Given the description of an element on the screen output the (x, y) to click on. 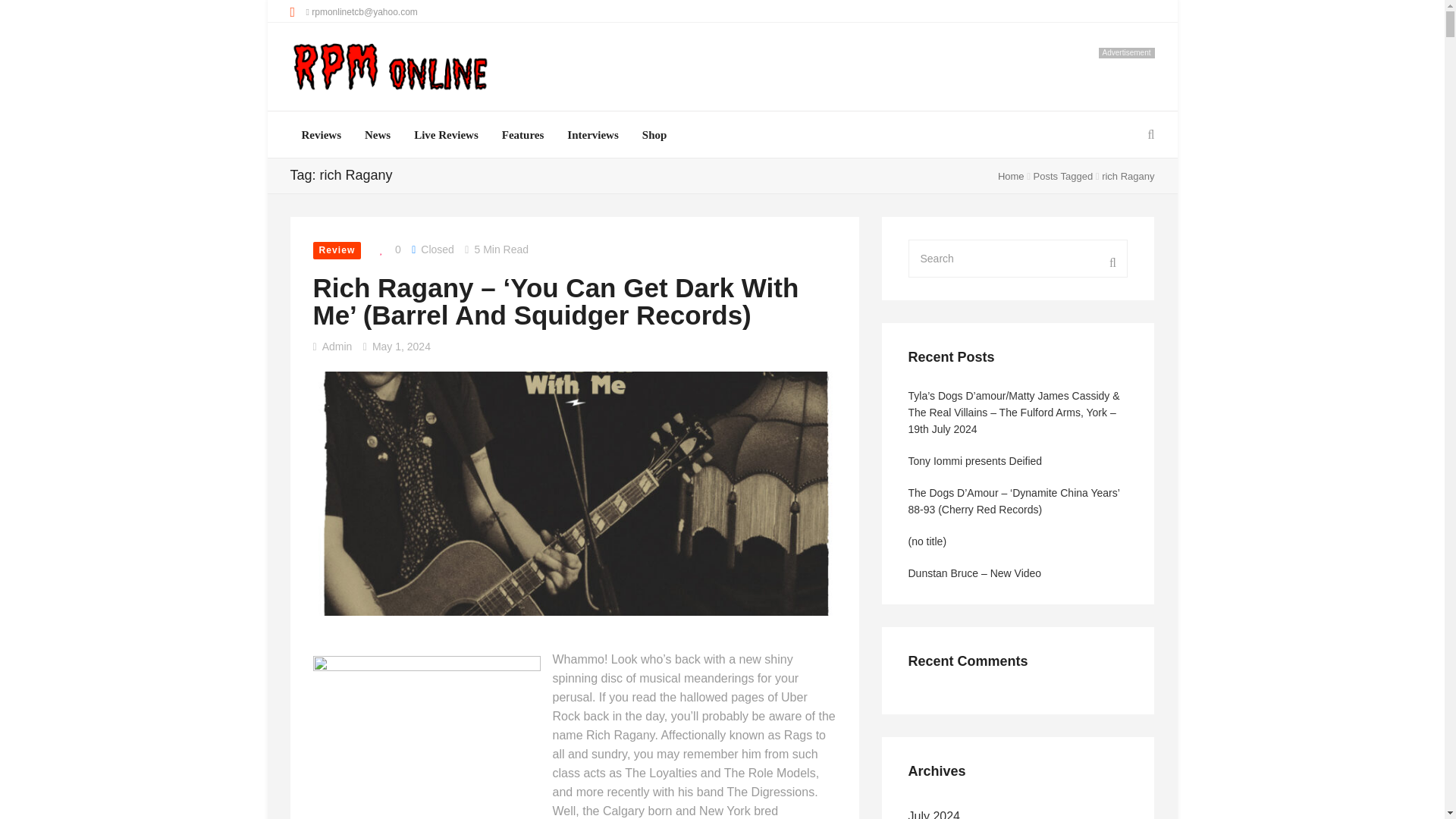
Live Reviews (446, 135)
Like this (386, 249)
Interviews (592, 135)
Features (523, 135)
RPM Online (389, 68)
Live Reviews (446, 135)
